Given the description of an element on the screen output the (x, y) to click on. 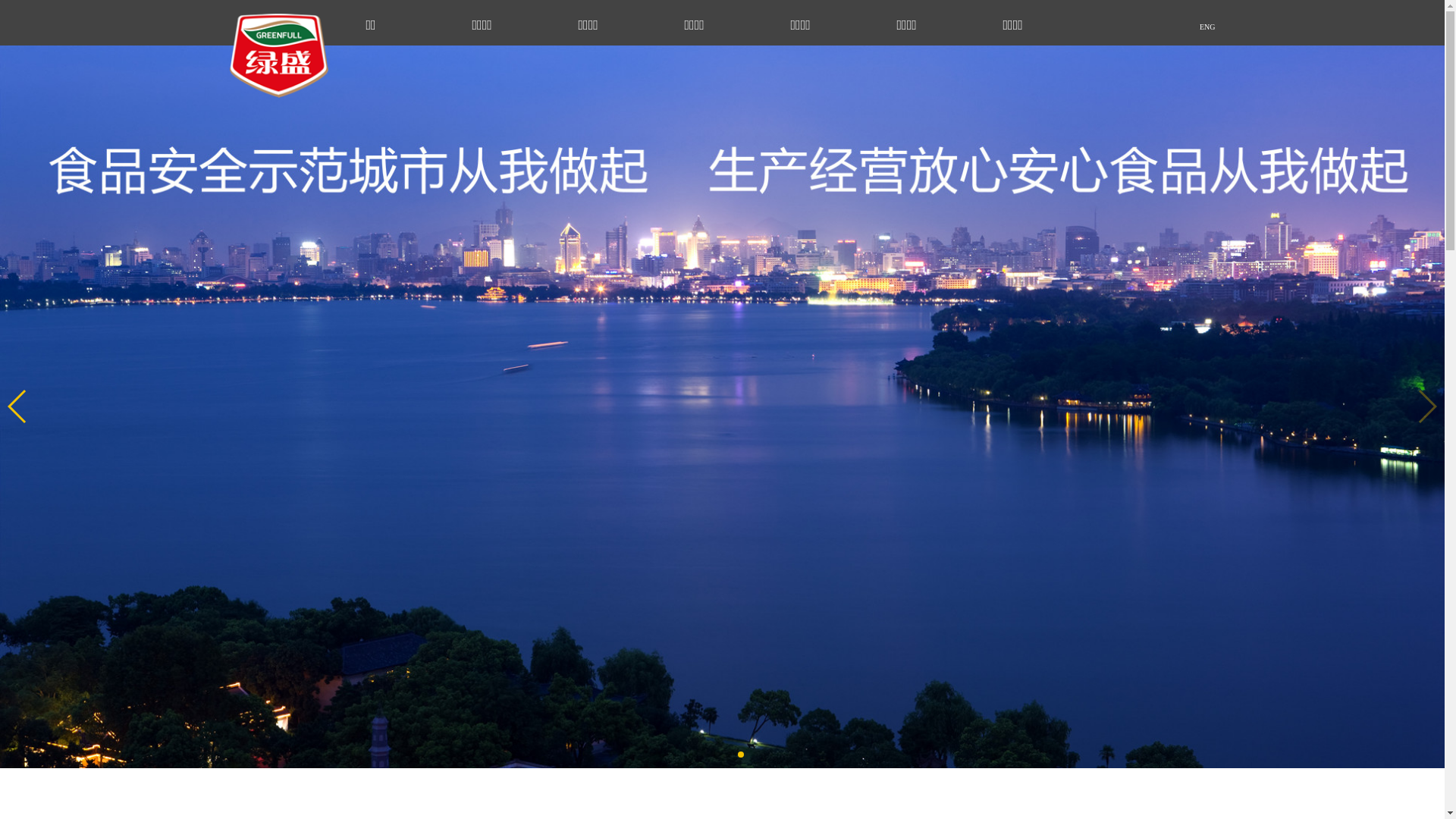
ENG Element type: text (1161, 26)
